Given the description of an element on the screen output the (x, y) to click on. 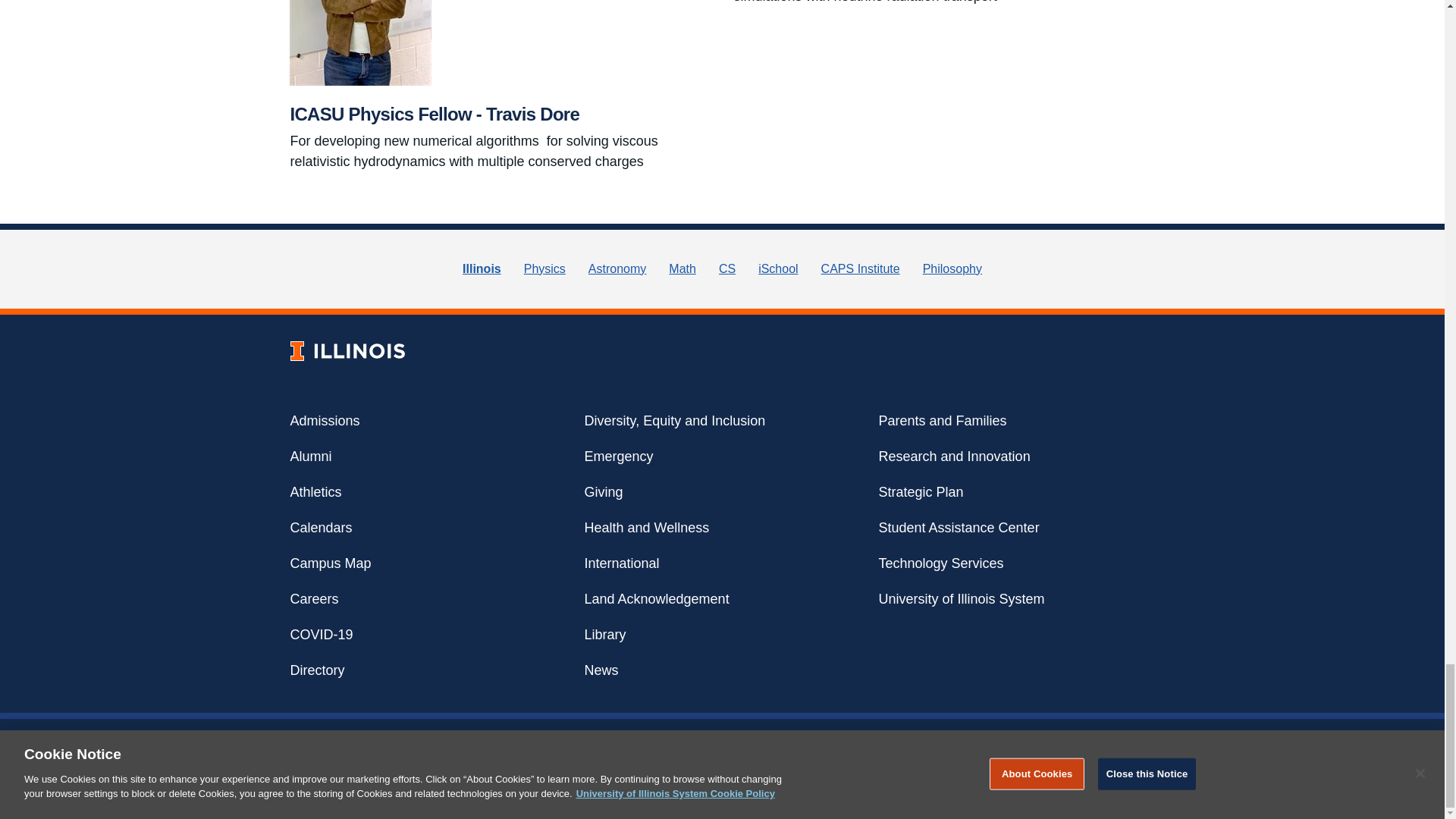
Astronomy (617, 268)
Physics (545, 268)
Department of Astronomy (617, 268)
Department of Physics (545, 268)
Illinois (481, 268)
CAPS Institute (860, 268)
Department of Computer Science (727, 268)
Math (681, 268)
University of Illinois at Urbana-Champaign (481, 268)
Department of Math (681, 268)
